Given the description of an element on the screen output the (x, y) to click on. 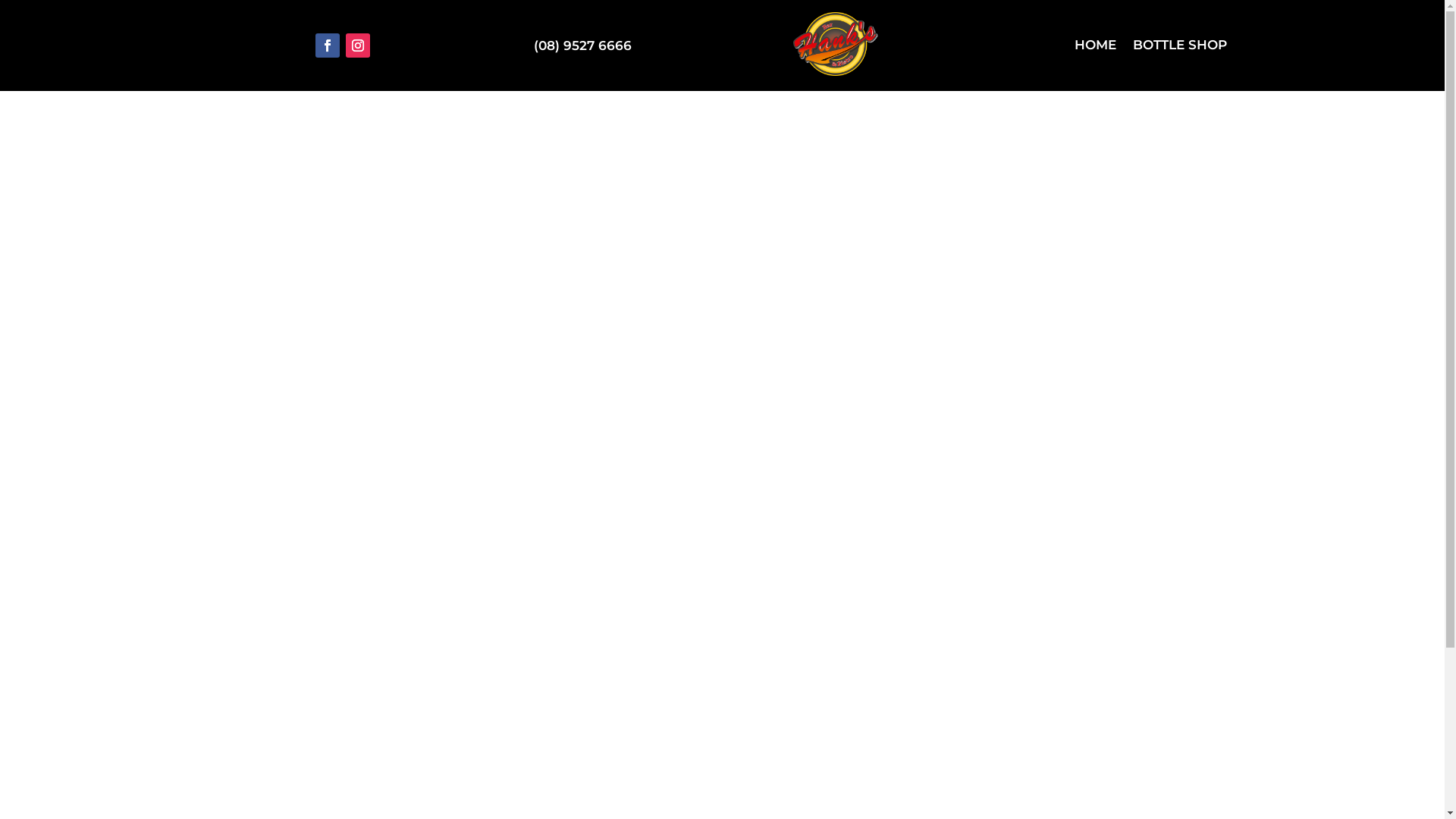
Follow on Instagram Element type: hover (357, 45)
BOTTLE SHOP Element type: text (1179, 47)
Follow on Facebook Element type: hover (327, 45)
HOME Element type: text (1095, 47)
